Given the description of an element on the screen output the (x, y) to click on. 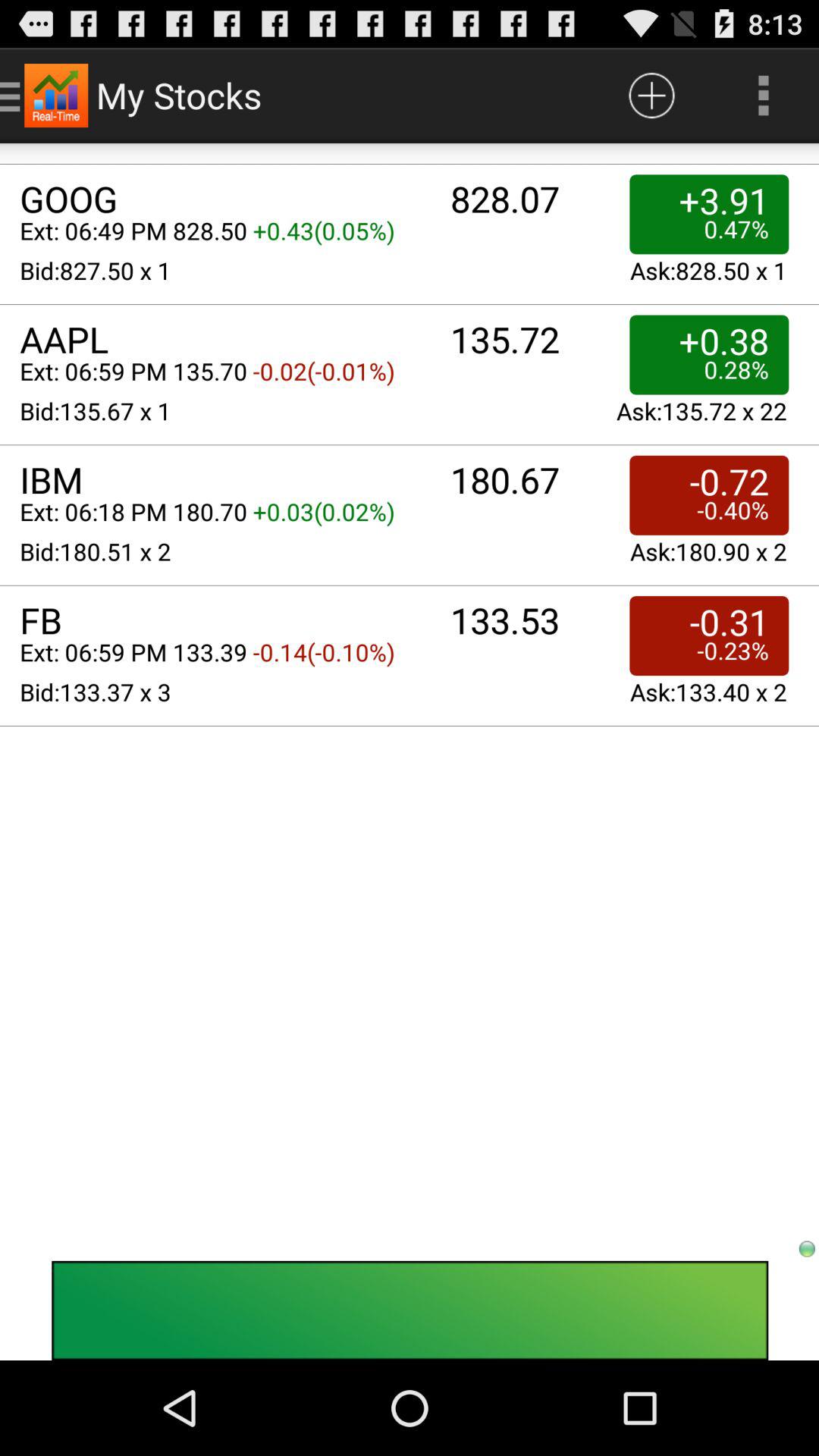
press the app above +3.91 (763, 95)
